Given the description of an element on the screen output the (x, y) to click on. 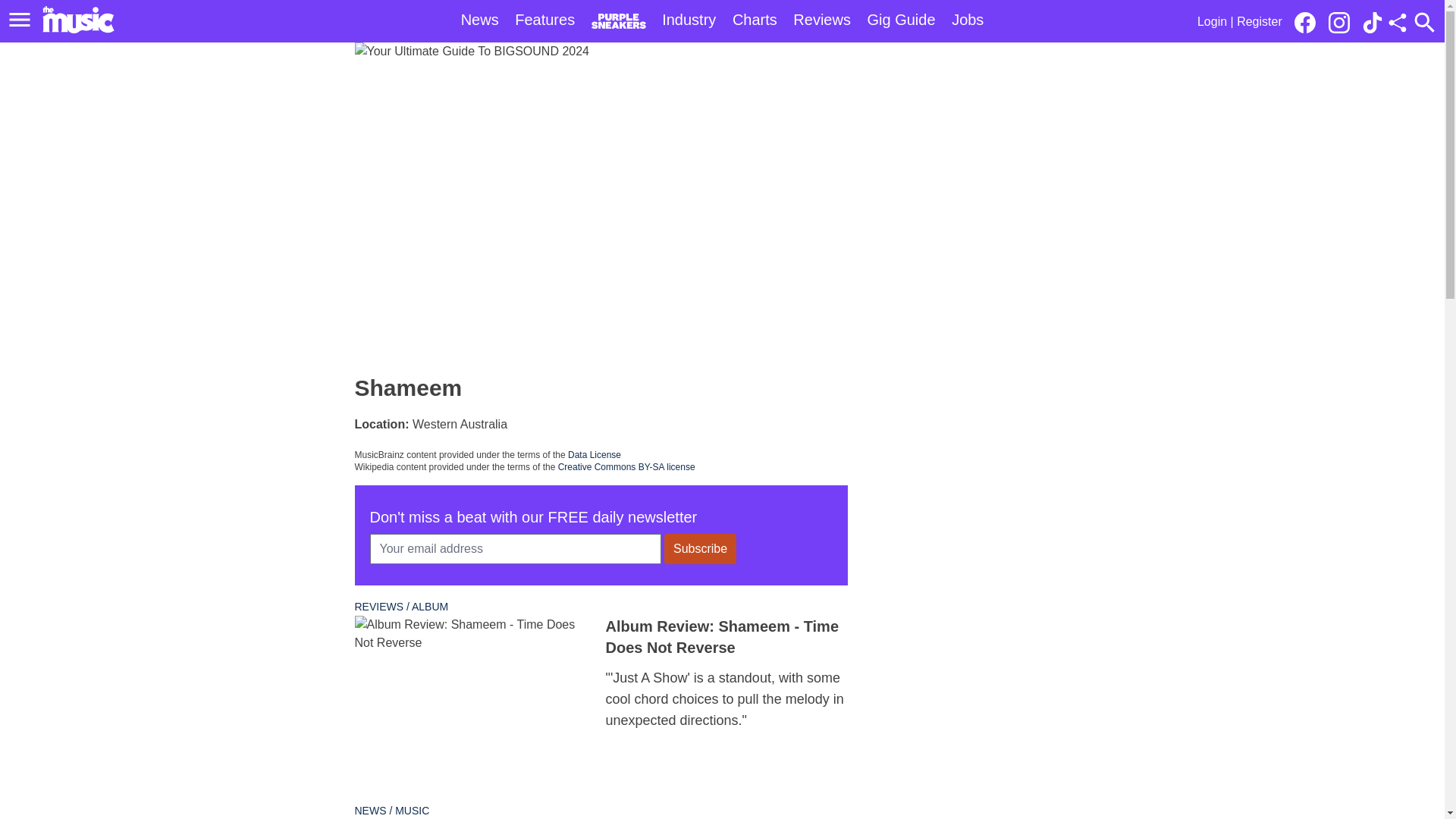
Industry (689, 19)
Link to our Instagram (1342, 21)
Open the site search menu (1424, 22)
Login (1211, 21)
Share this page (1397, 22)
Open the main menu (19, 19)
Features (545, 19)
Charts (754, 19)
Subscribe (699, 548)
Link to our TikTok (1372, 22)
